Given the description of an element on the screen output the (x, y) to click on. 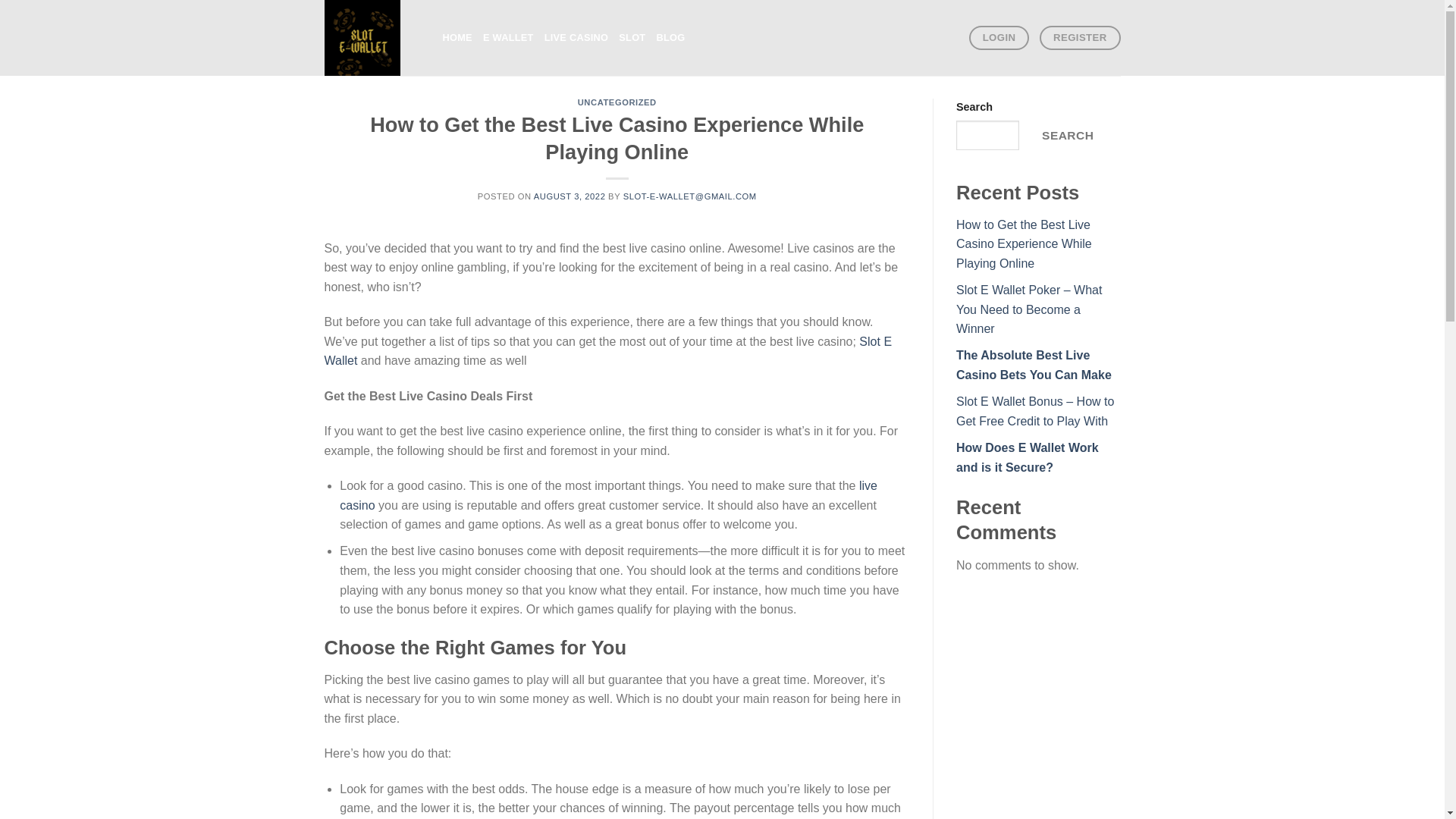
LOGIN (999, 37)
UNCATEGORIZED (617, 102)
LIVE CASINO (576, 37)
HOME (456, 37)
The Absolute Best Live Casino Bets You Can Make (1034, 364)
live casino (608, 495)
SEARCH (1067, 134)
AUGUST 3, 2022 (569, 195)
